Given the description of an element on the screen output the (x, y) to click on. 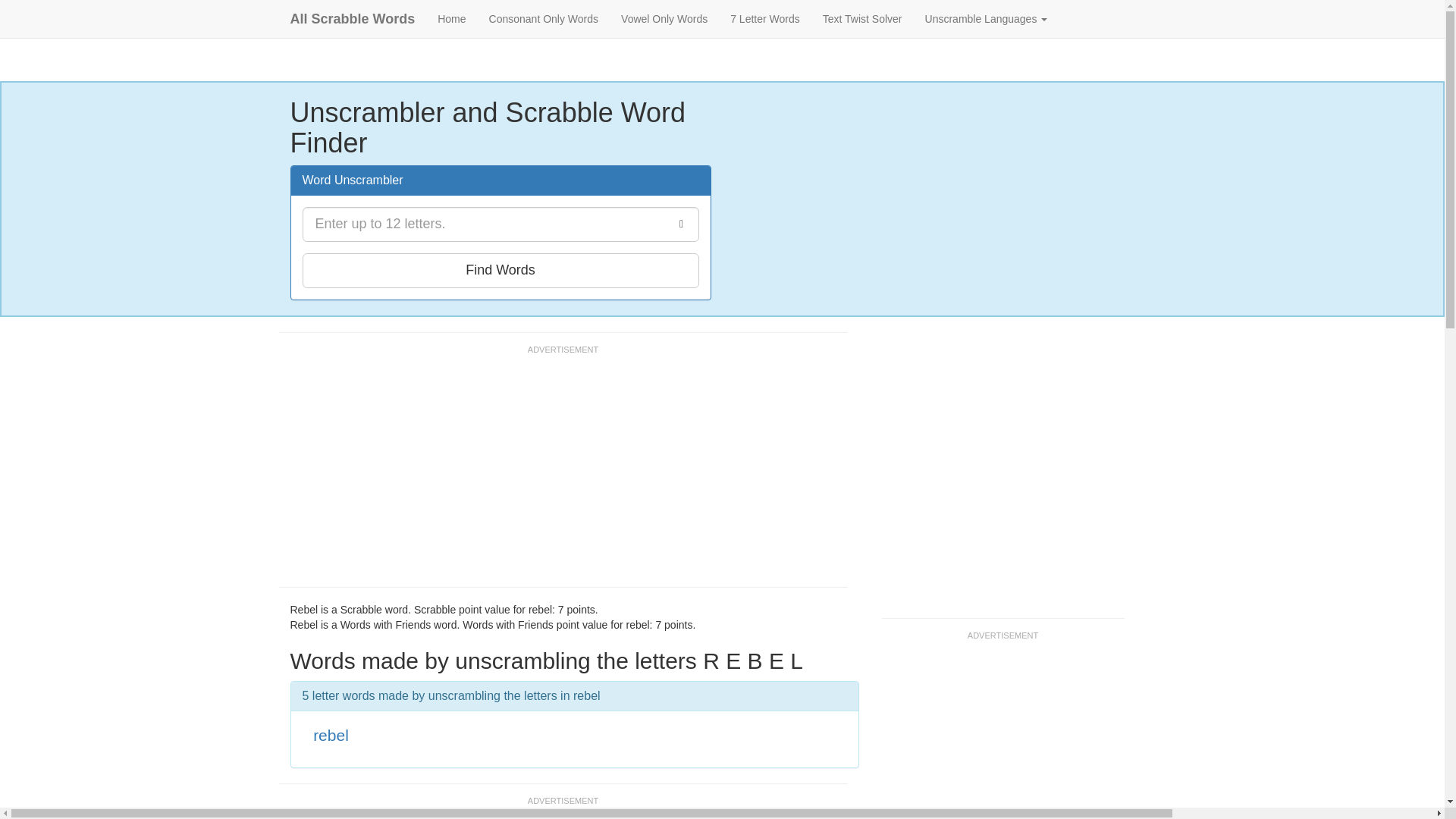
Consonant Only Words (543, 18)
Vowel Only Scrabble Words (664, 18)
Find Words (499, 270)
Unscramble Languages (986, 18)
Text Twist Solver (862, 18)
Home (451, 18)
Unscramble Letters and Scrabble Finder (352, 18)
Vowel Only Words (664, 18)
rebel (331, 734)
Seven Letter Scrabble Words (764, 18)
Text Twist Solver (862, 18)
All Scrabble Words (352, 18)
Consonant Only Scrabble Words (543, 18)
Unscramble Letters and Scrabble Finder (451, 18)
